Given the description of an element on the screen output the (x, y) to click on. 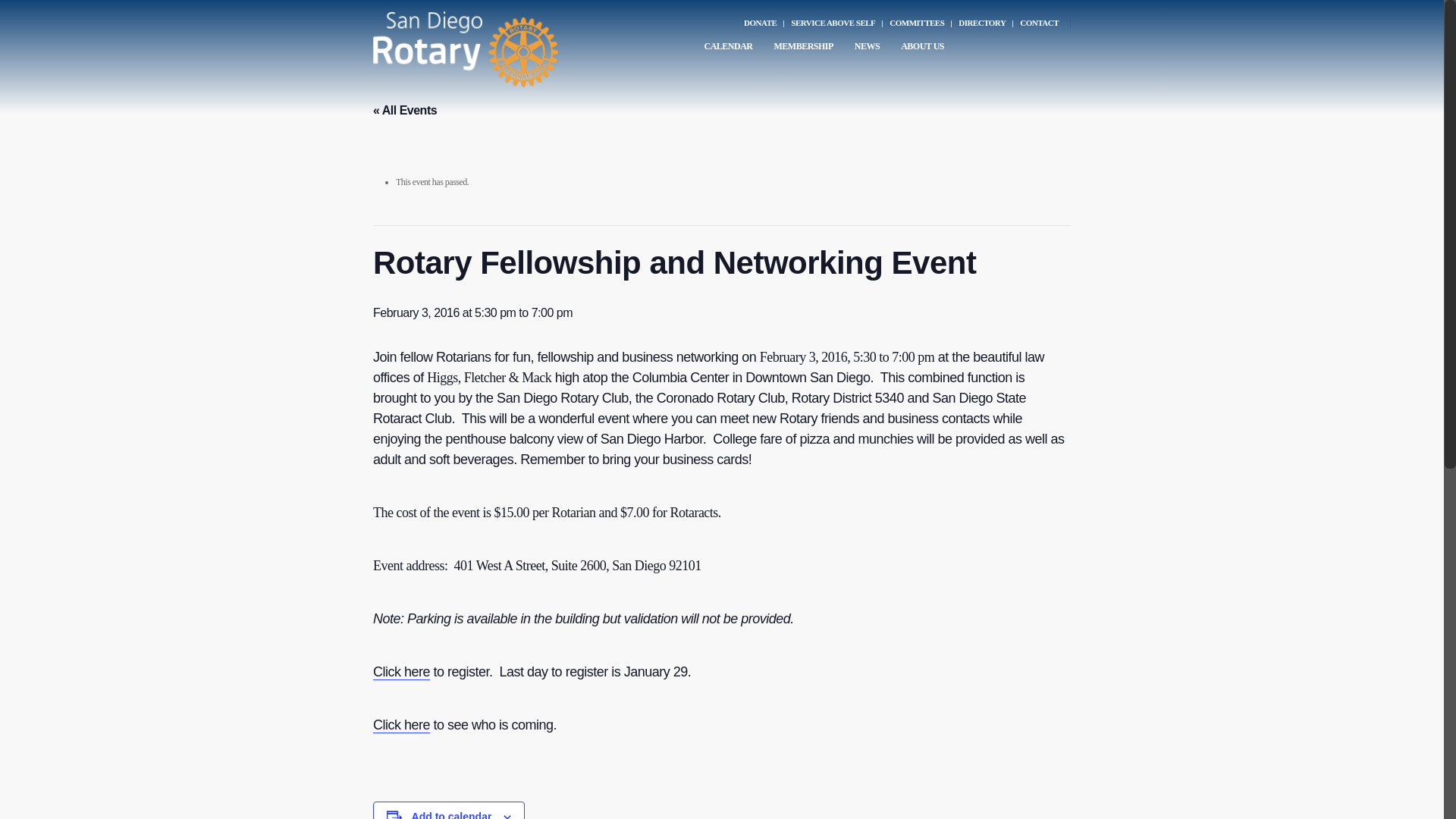
NEWS (869, 51)
MEMBERSHIP (804, 51)
DONATE (765, 22)
CONTACT (1043, 22)
ABOUT US (924, 51)
DIRECTORY (987, 22)
CALENDAR (729, 51)
COMMITTEES (922, 22)
SERVICE ABOVE SELF (838, 22)
